Given the description of an element on the screen output the (x, y) to click on. 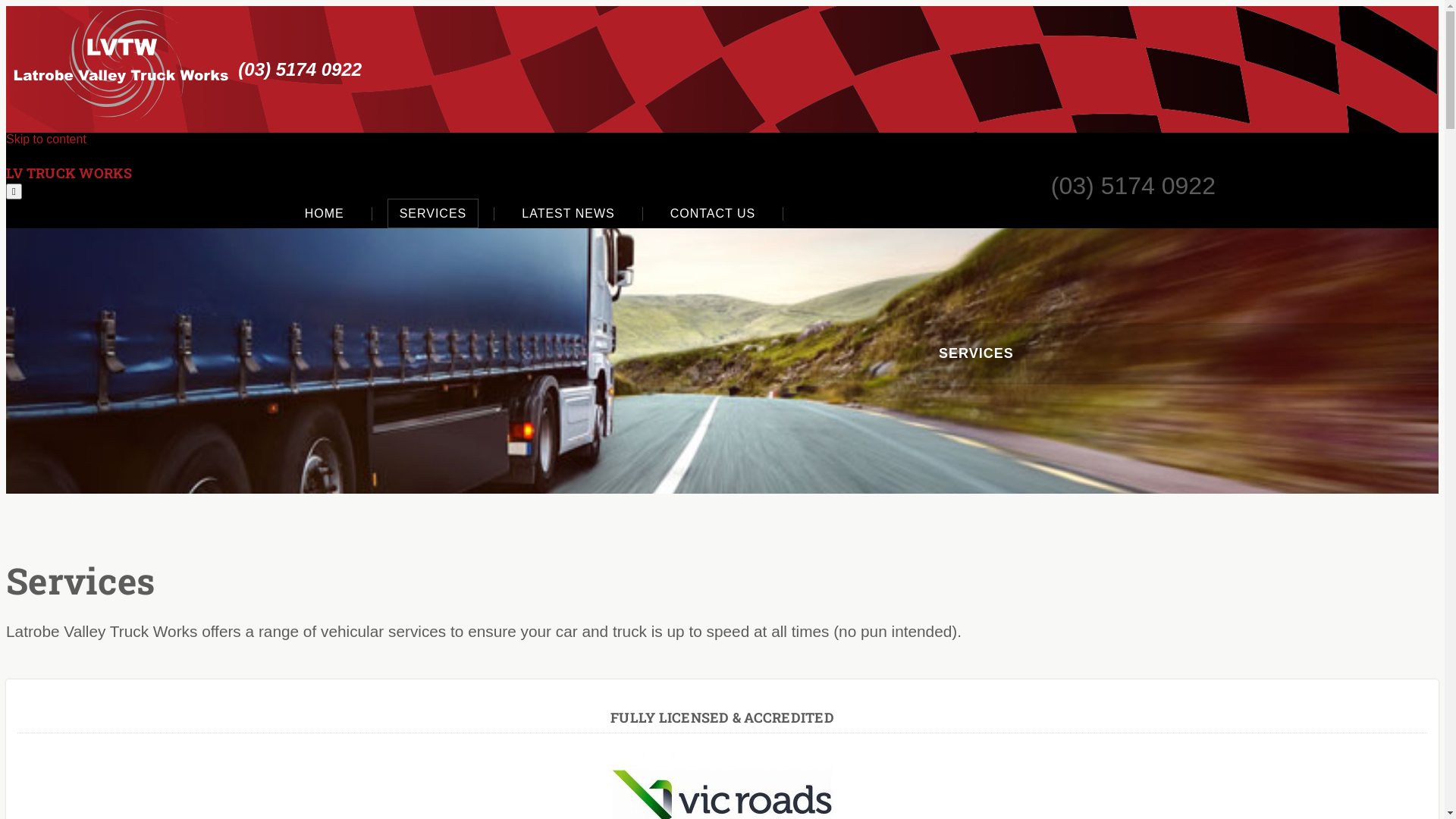
Skip to content Element type: text (46, 138)
CONTACT US Element type: text (713, 213)
LV TRUCK WORKS Element type: text (69, 172)
SERVICES Element type: text (433, 213)
(03) 5174 0922 Element type: text (299, 69)
Toggle navigation Element type: text (1332, 185)
HOME Element type: text (324, 213)
home Element type: hover (119, 65)
LATEST NEWS Element type: text (567, 213)
